Given the description of an element on the screen output the (x, y) to click on. 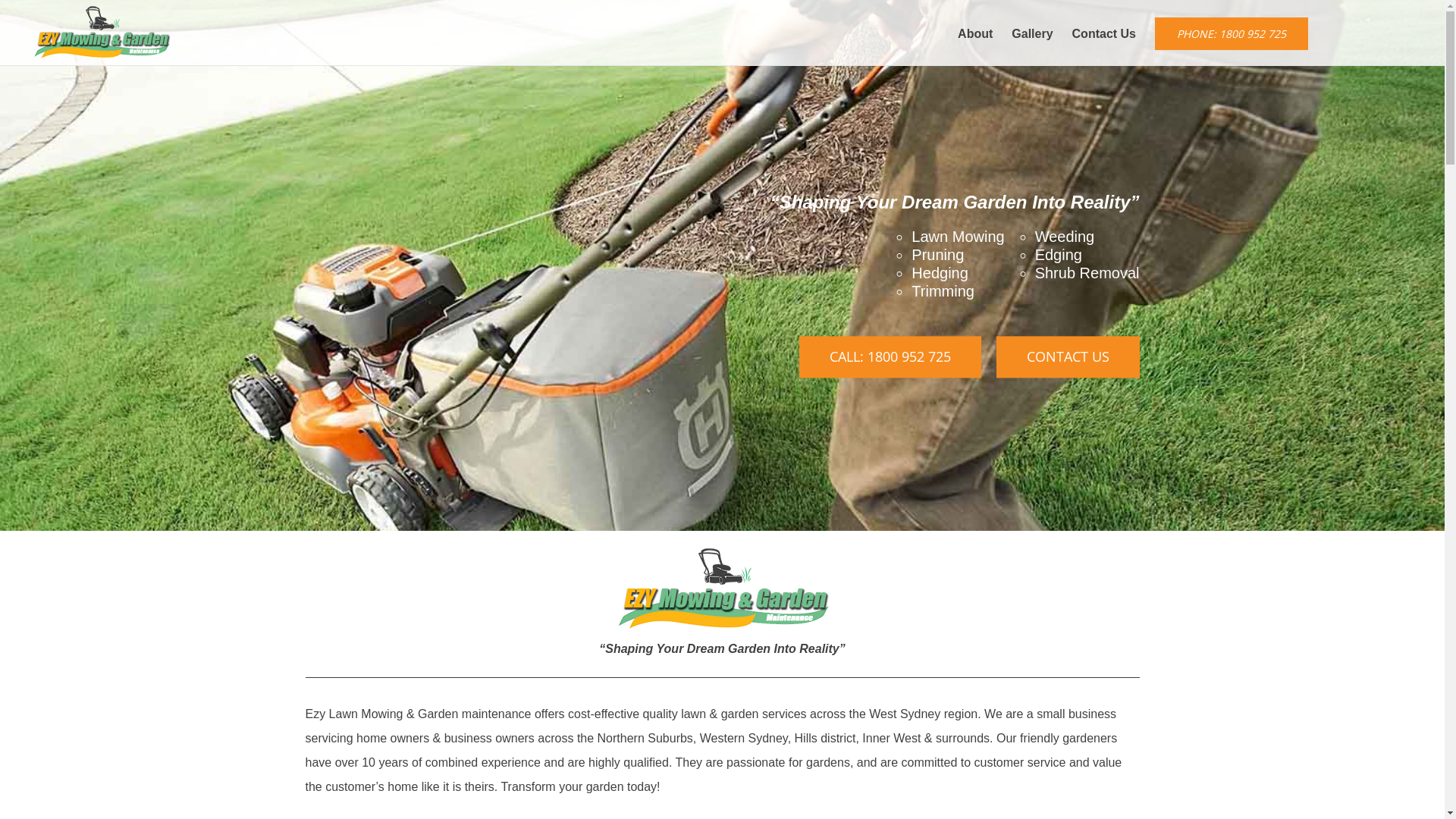
CALL: 1800 952 725 Element type: text (890, 357)
Gallery Element type: text (1031, 32)
CONTACT US Element type: text (1067, 357)
About Element type: text (974, 32)
ezy_mowing_garden_maintenance_logom Element type: hover (721, 589)
Contact Us Element type: text (1103, 32)
PHONE: 1800 952 725 Element type: text (1231, 32)
